Given the description of an element on the screen output the (x, y) to click on. 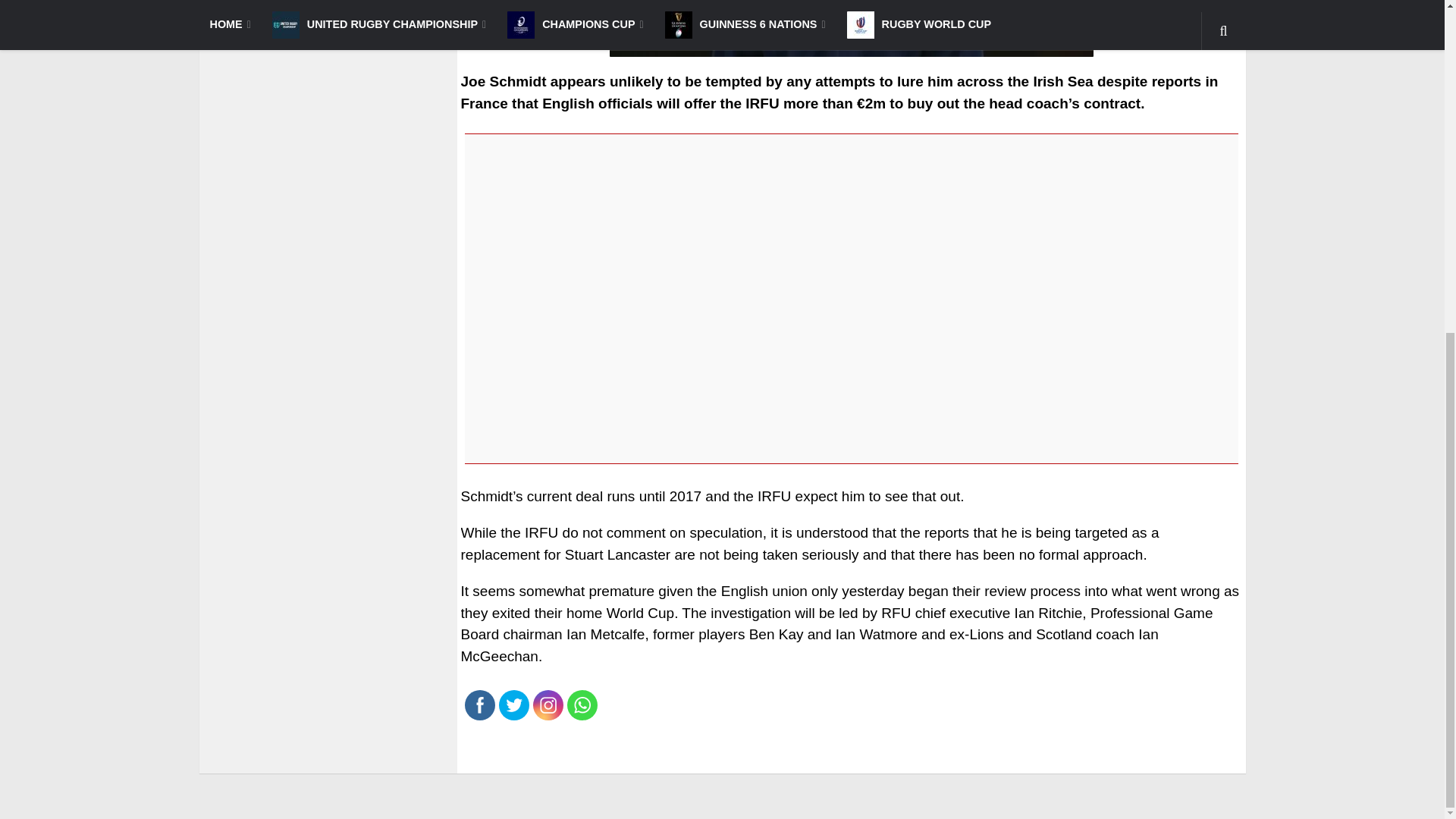
Facebook (479, 704)
Twitter (513, 704)
Instagram (548, 704)
